Given the description of an element on the screen output the (x, y) to click on. 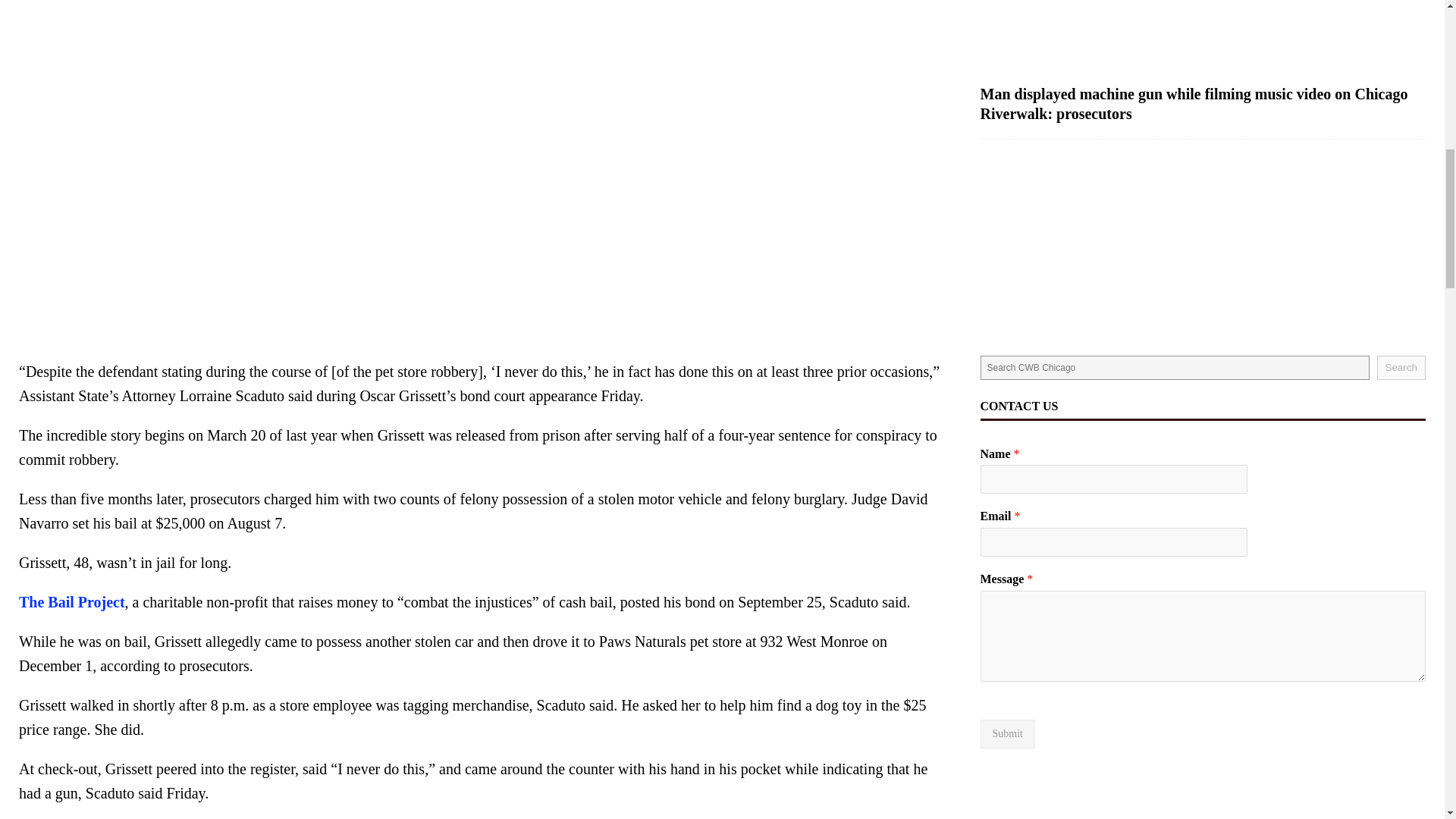
The Bail Project (71, 601)
Search (1401, 367)
Submit (1007, 733)
